Given the description of an element on the screen output the (x, y) to click on. 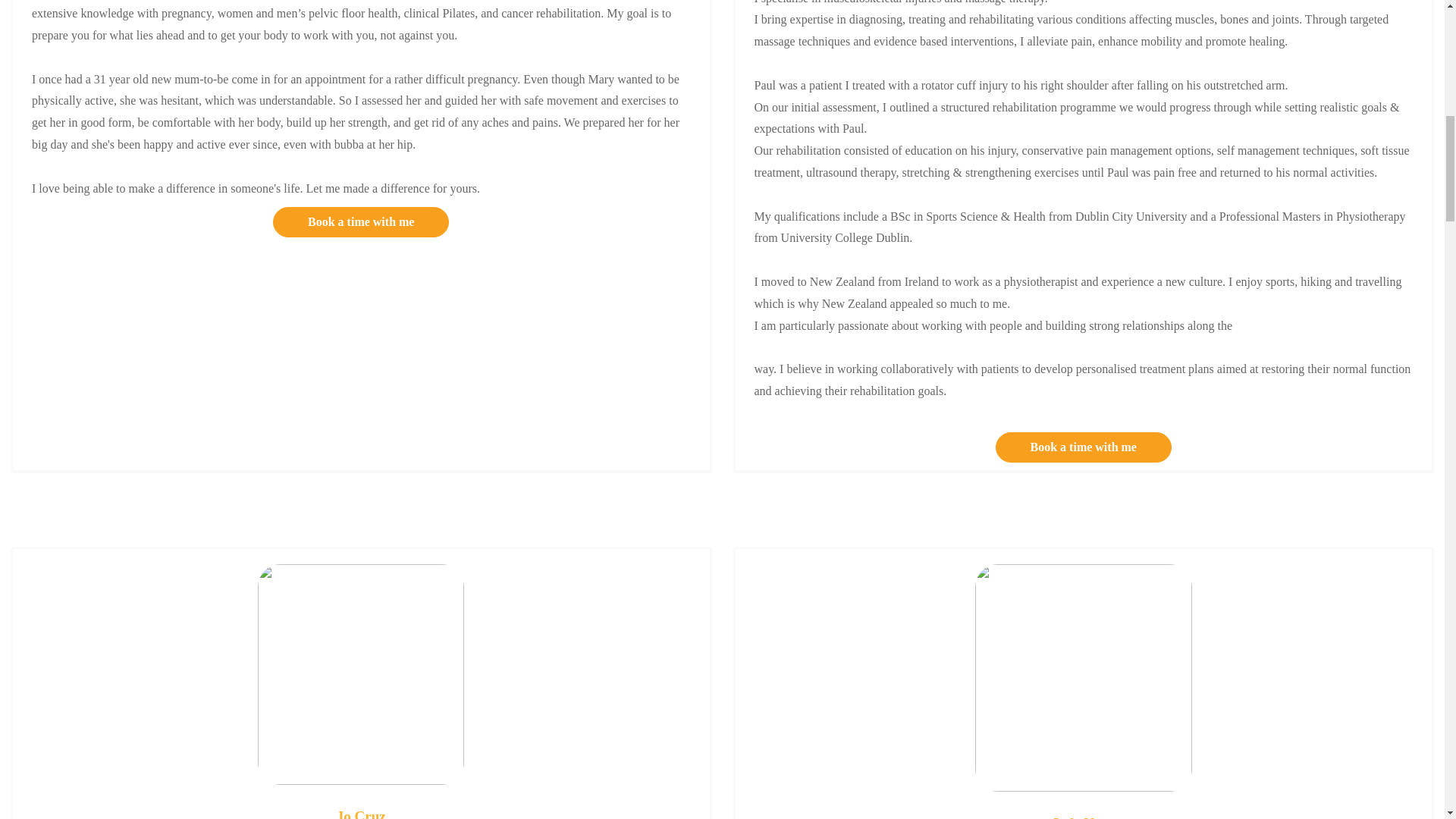
Book a time with me (360, 222)
Book a time with me (1083, 447)
